Given the description of an element on the screen output the (x, y) to click on. 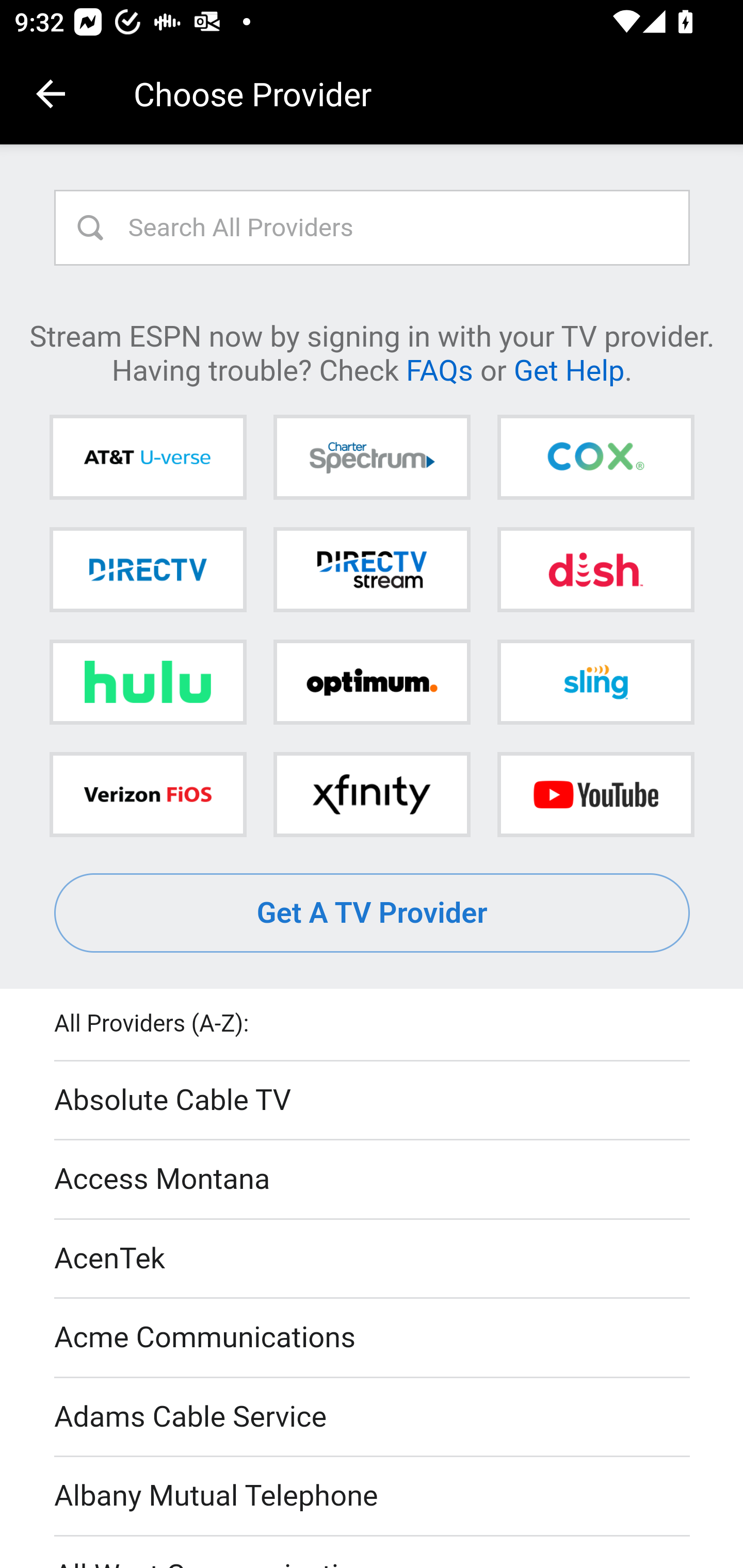
Navigate up (50, 93)
FAQs (438, 369)
Get Help (569, 369)
AT&T U-verse (147, 457)
Charter Spectrum (371, 457)
Cox (595, 457)
DIRECTV (147, 568)
DIRECTV STREAM (371, 568)
DISH (595, 568)
Hulu (147, 681)
Optimum (371, 681)
Sling TV (595, 681)
Verizon FiOS (147, 793)
Xfinity (371, 793)
YouTube TV (595, 793)
Get A TV Provider (372, 912)
Absolute Cable TV (372, 1100)
Access Montana (372, 1178)
AcenTek (372, 1258)
Acme Communications (372, 1338)
Adams Cable Service (372, 1417)
Albany Mutual Telephone (372, 1497)
